Given the description of an element on the screen output the (x, y) to click on. 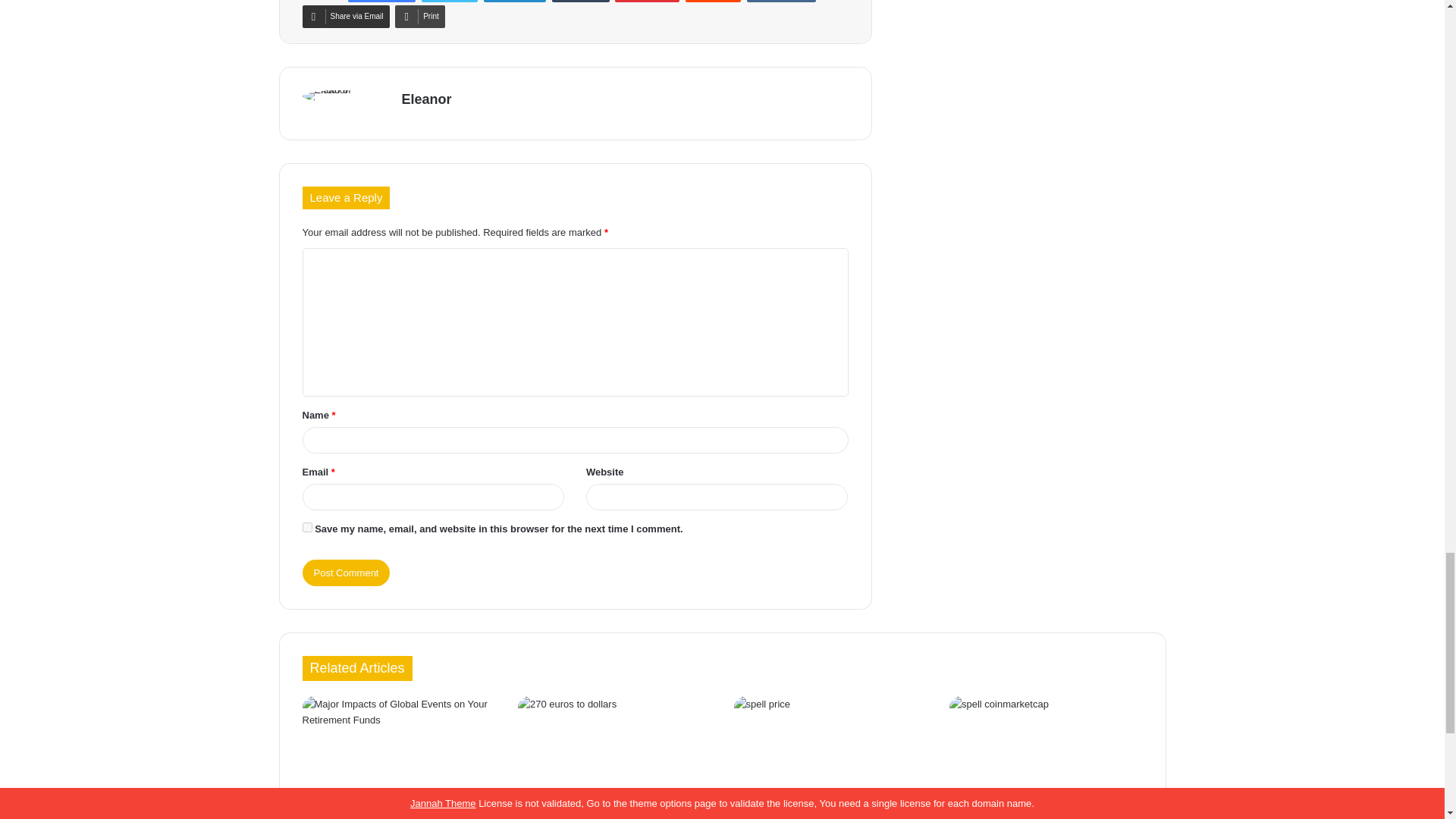
Post Comment (345, 572)
yes (306, 527)
